Given the description of an element on the screen output the (x, y) to click on. 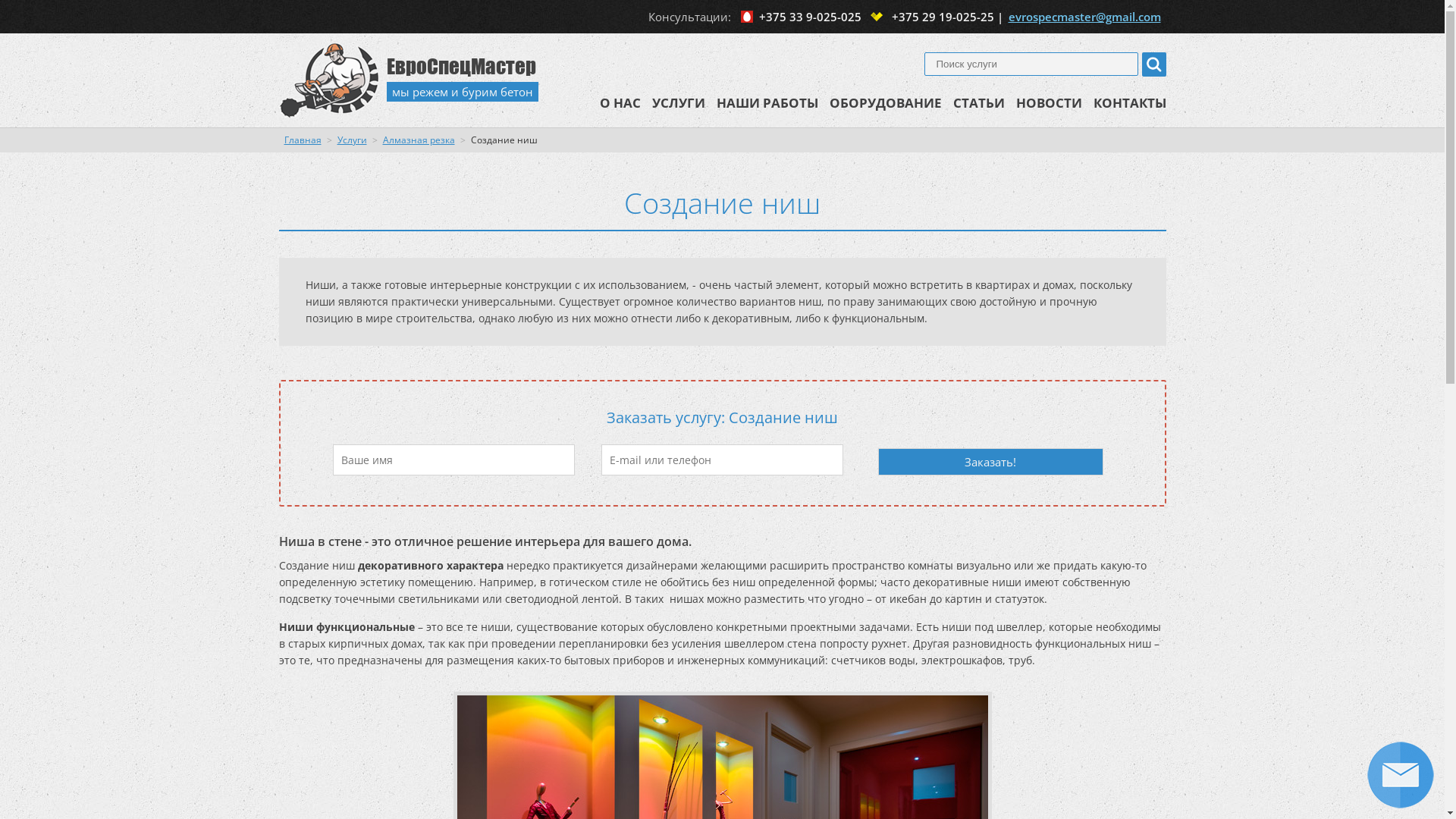
evrospecmaster@gmail.com Element type: text (1081, 16)
